Given the description of an element on the screen output the (x, y) to click on. 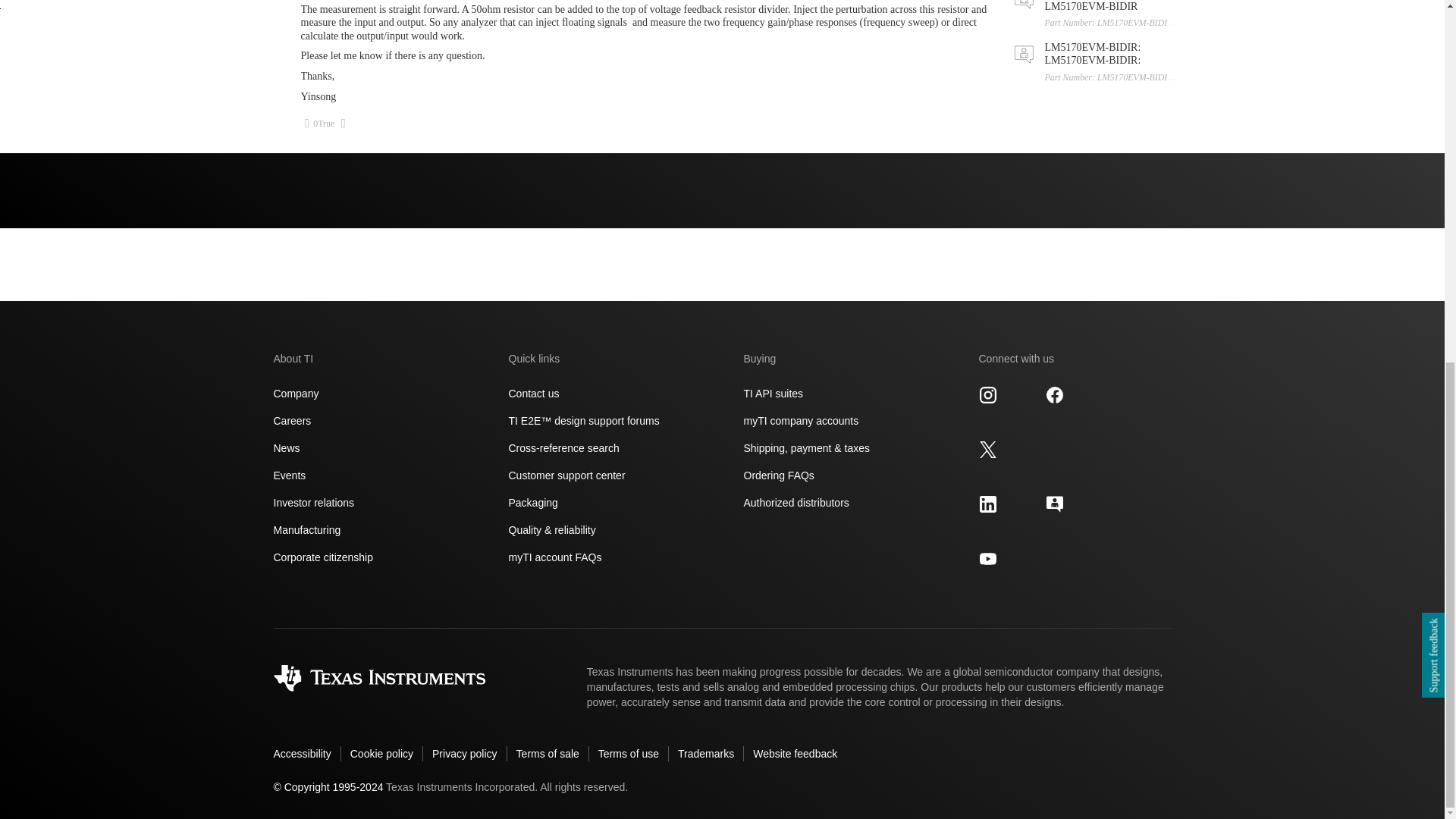
linkedin (986, 504)
facebook (1053, 394)
e2e (1053, 504)
twitter (986, 449)
instagram (986, 394)
